Given the description of an element on the screen output the (x, y) to click on. 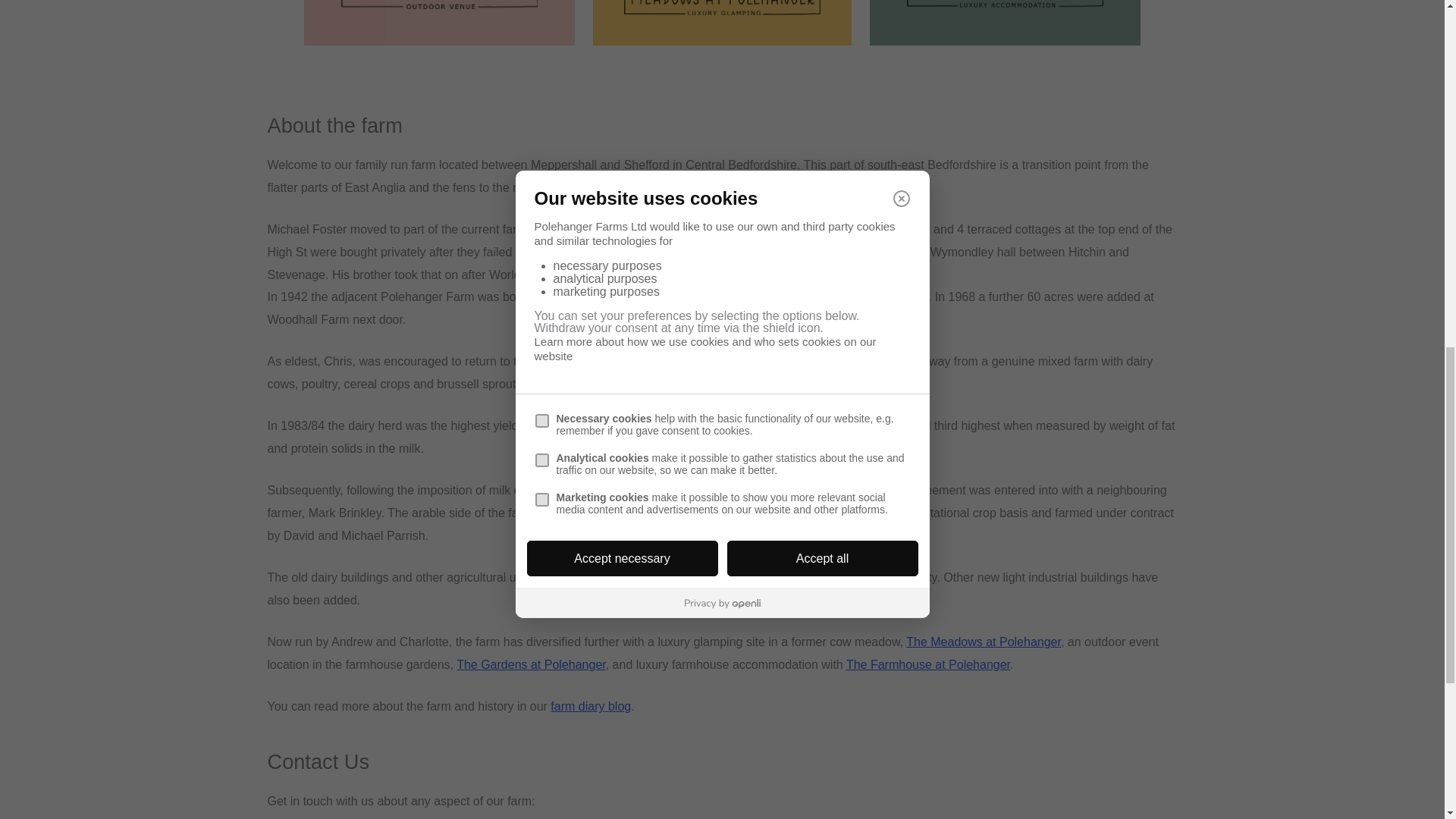
The Gardens at Polehanger (531, 664)
farm diary blog (590, 706)
The Meadows at Polehanger (983, 641)
The Farmhouse at Polehanger (927, 664)
